Given the description of an element on the screen output the (x, y) to click on. 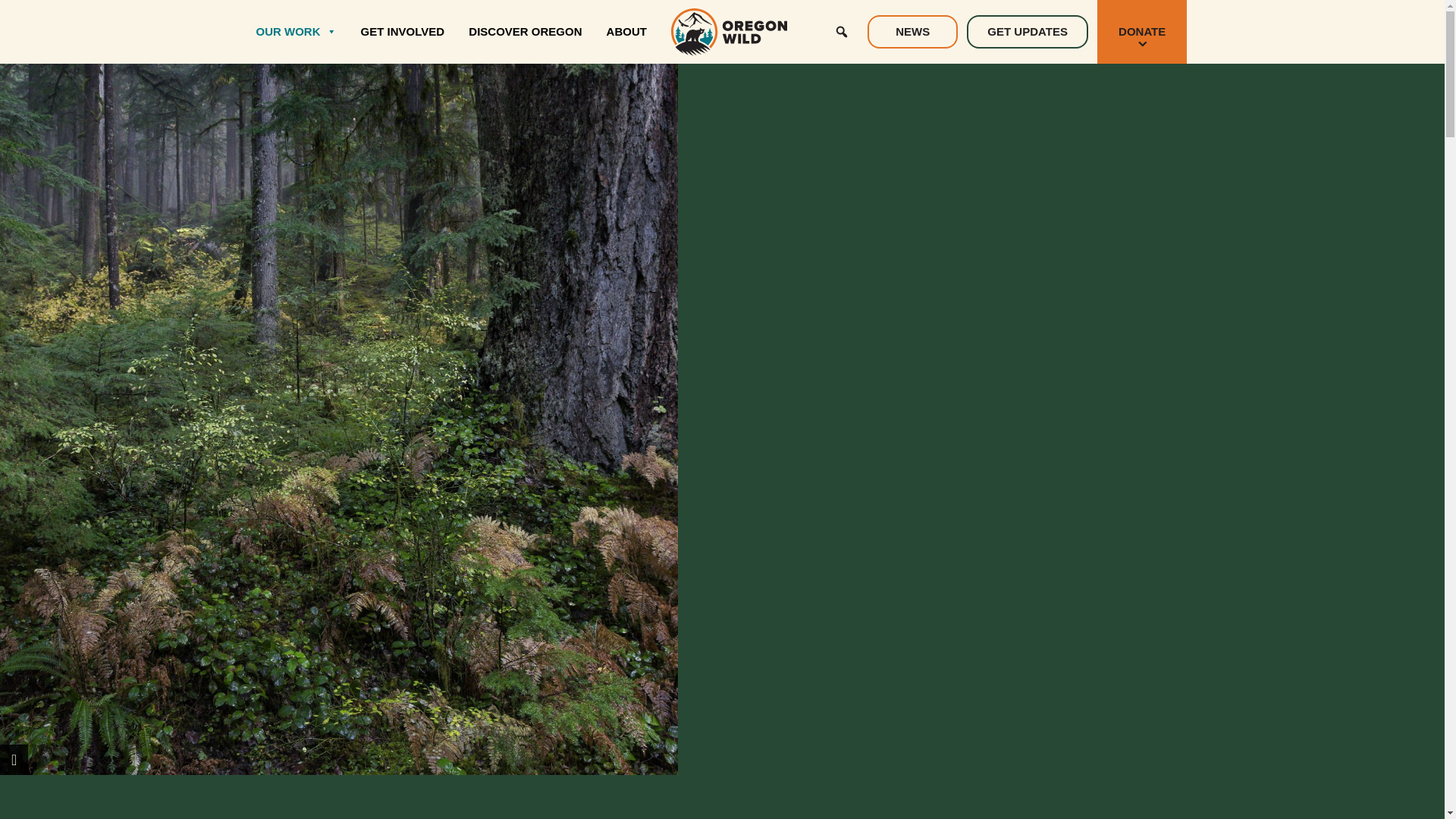
OUR WORK (295, 31)
NEWS (912, 31)
GET INVOLVED (402, 31)
Search (24, 22)
DISCOVER OREGON (525, 31)
GET UPDATES (1026, 31)
